Given the description of an element on the screen output the (x, y) to click on. 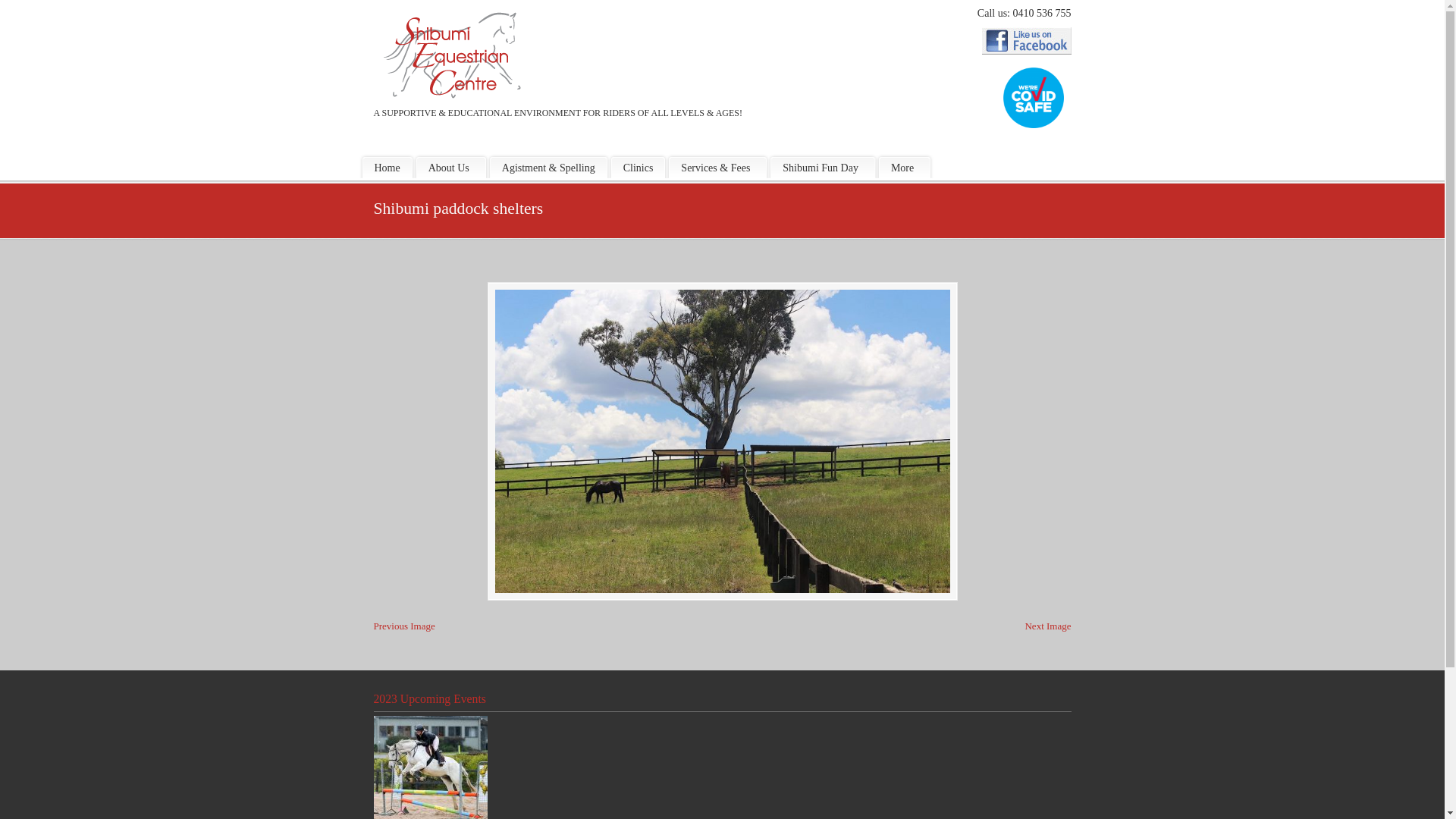
Clinics Element type: text (638, 168)
Services & Fees Element type: text (717, 168)
Next Image Element type: text (1047, 625)
shibumi.net.au Element type: text (451, 56)
Shibumi Fun Day Element type: text (822, 168)
Home Element type: text (387, 168)
Agistment & Spelling Element type: text (548, 168)
About Us Element type: text (451, 168)
Previous Image Element type: text (403, 625)
Like Us on Facebook Element type: hover (1025, 50)
More Element type: text (904, 168)
